Given the description of an element on the screen output the (x, y) to click on. 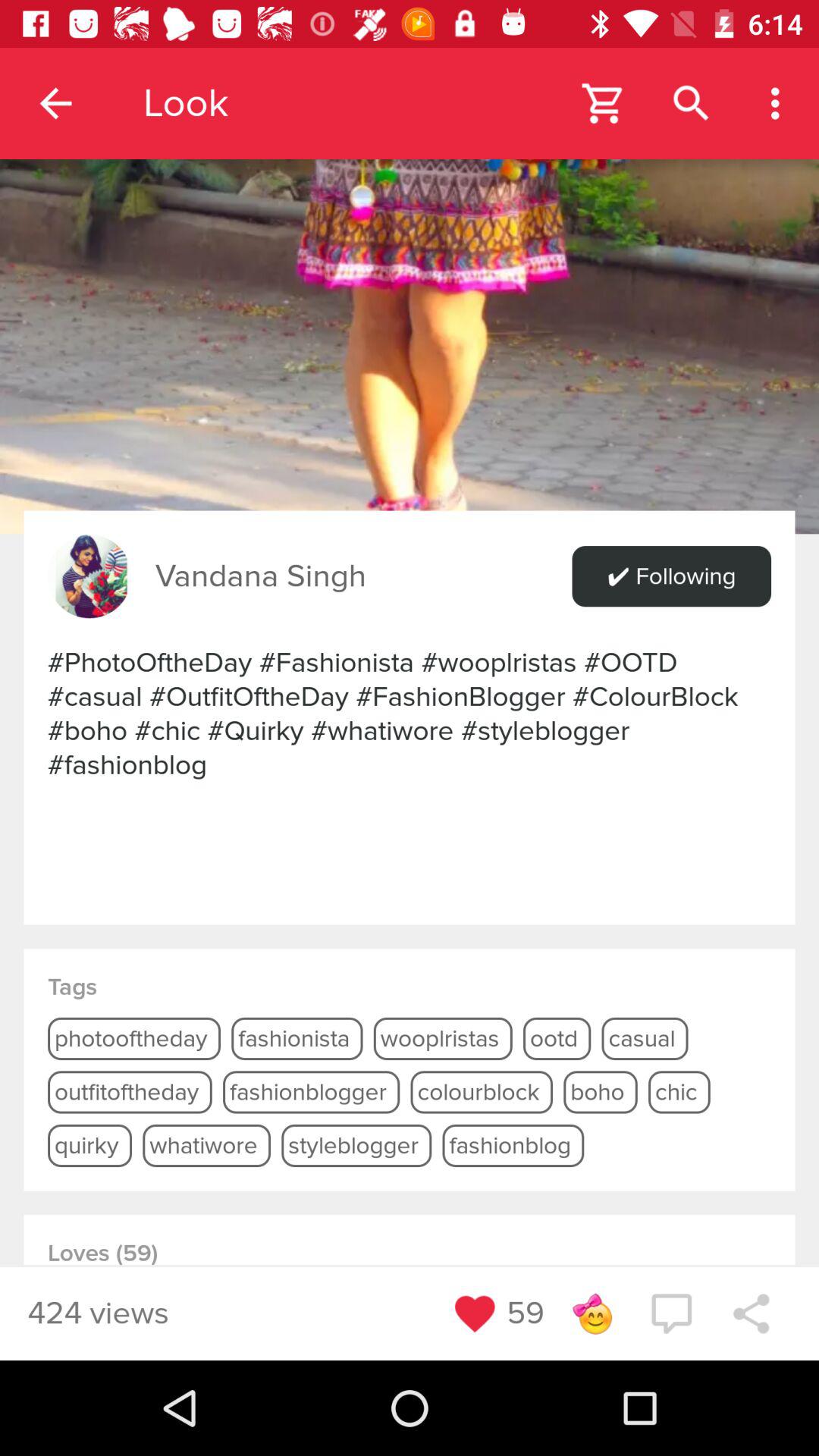
press icon to the right of the vandana singh icon (671, 576)
